Given the description of an element on the screen output the (x, y) to click on. 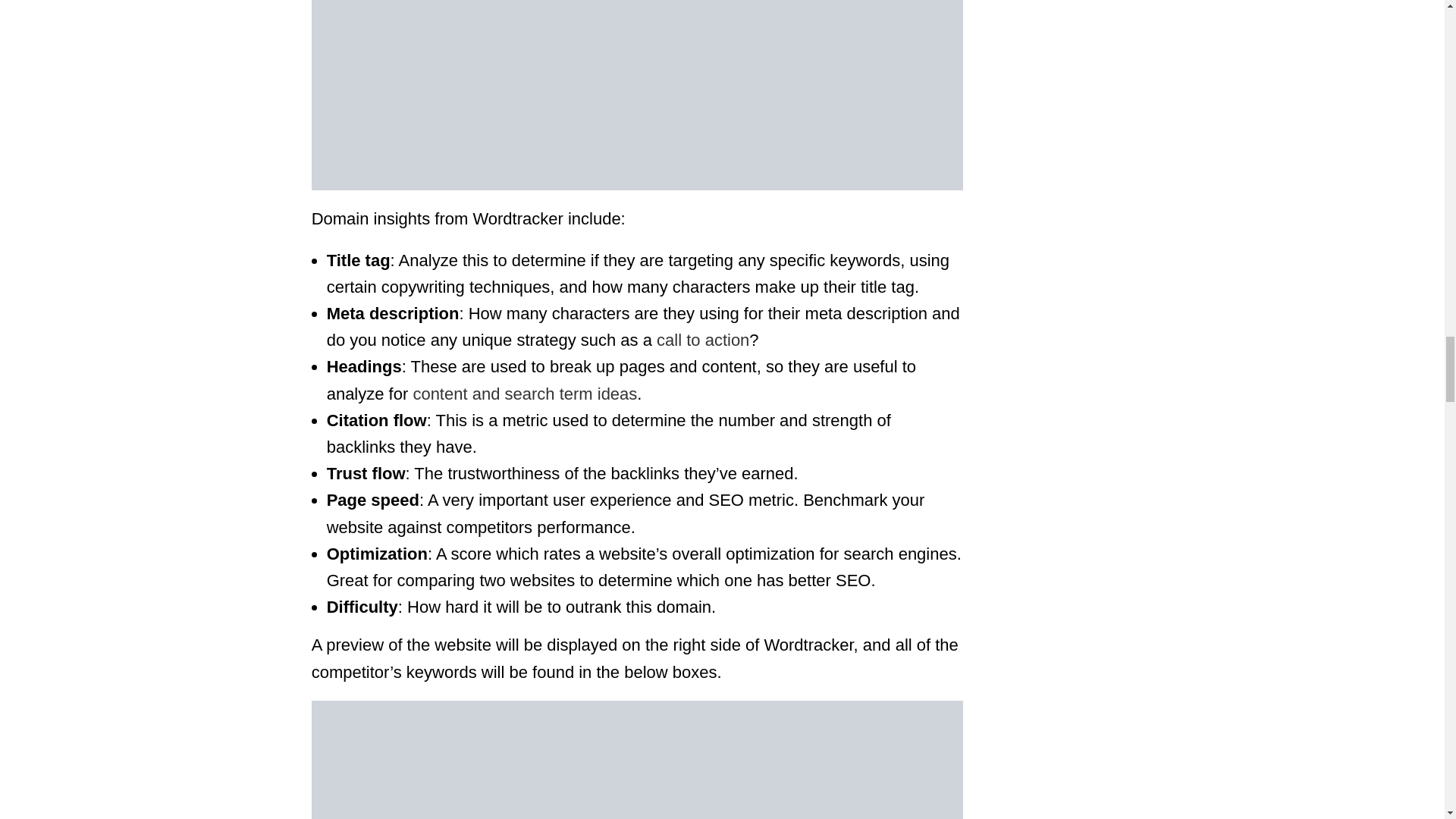
content and search term ideas (524, 393)
call to action (702, 339)
